Given the description of an element on the screen output the (x, y) to click on. 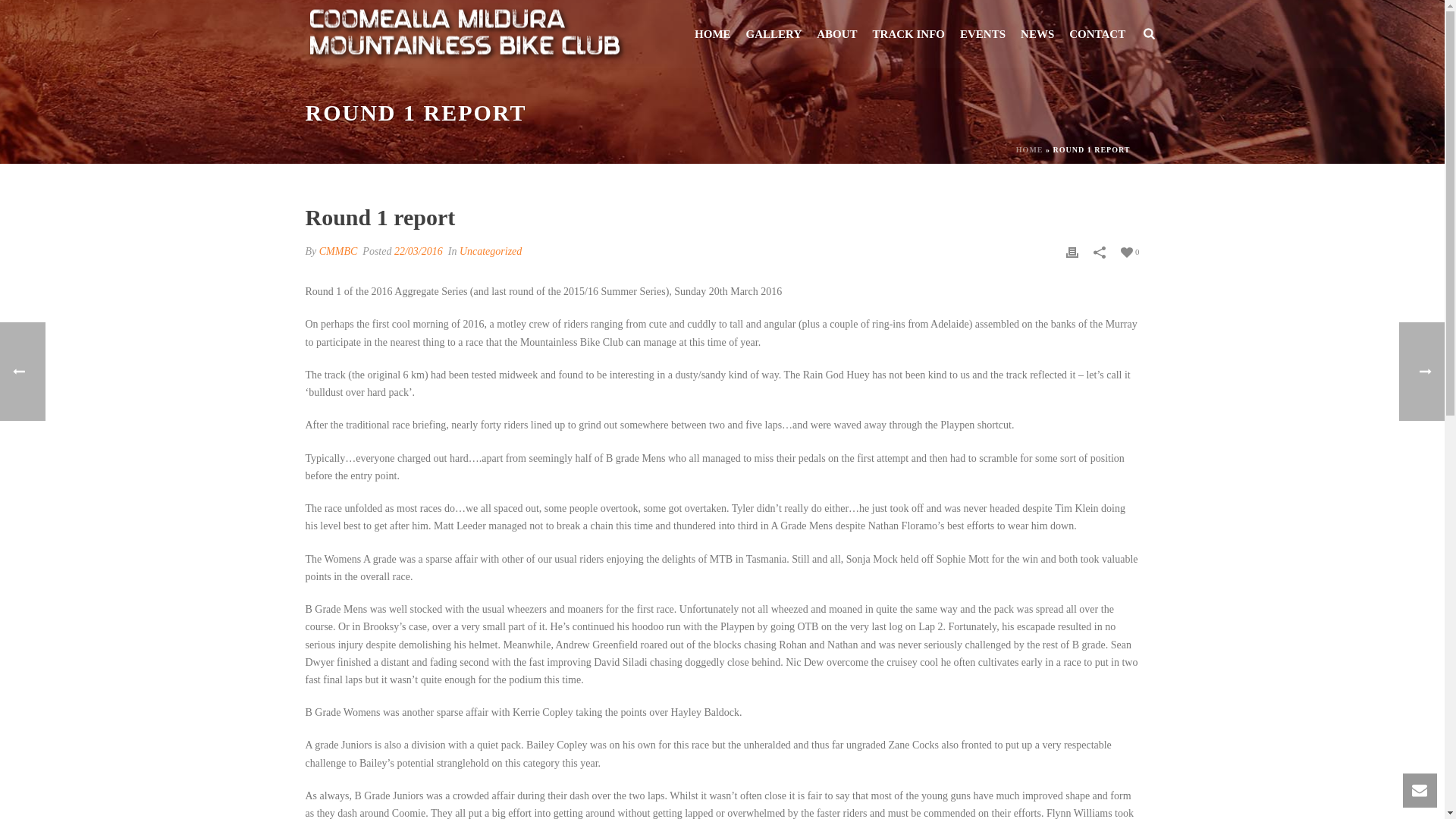
HOME (712, 34)
EVENTS (982, 34)
An intra-club of the Coomealla Memorial Sporting Club (465, 33)
ABOUT (836, 34)
TRACK INFO (908, 34)
GALLERY (773, 34)
NEWS (1037, 34)
Posts by CMMBC (338, 251)
EVENTS (982, 34)
TRACK INFO (908, 34)
GALLERY (773, 34)
ABOUT (836, 34)
CONTACT (1096, 34)
HOME (712, 34)
CONTACT (1096, 34)
